Given the description of an element on the screen output the (x, y) to click on. 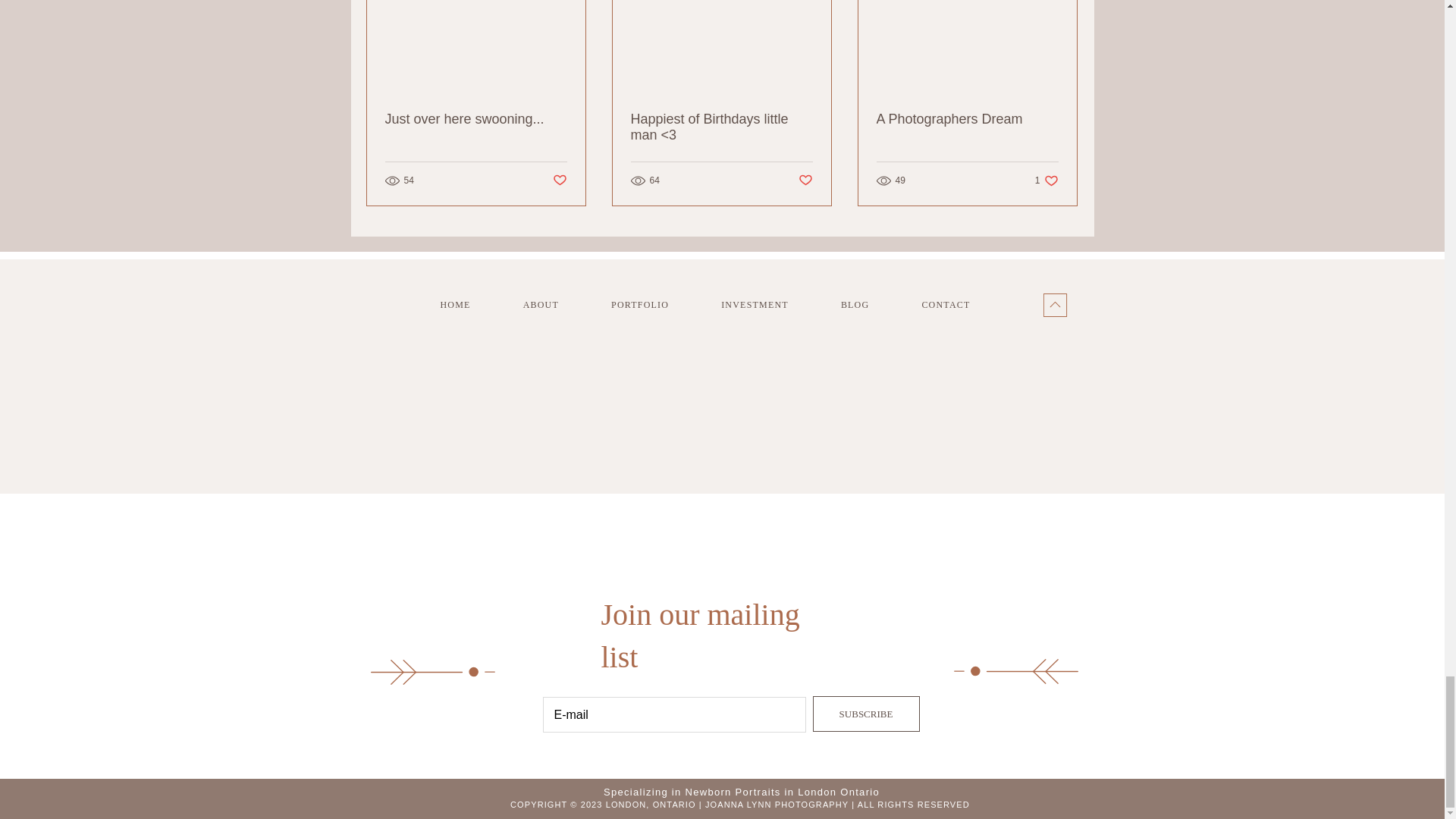
Post not marked as liked (558, 180)
BLOG (1046, 180)
A Photographers Dream (870, 304)
Post not marked as liked (967, 119)
PORTFOLIO (804, 180)
Just over here swooning... (655, 304)
INVESTMENT (720, 304)
HOME (476, 119)
ABOUT (770, 304)
